Given the description of an element on the screen output the (x, y) to click on. 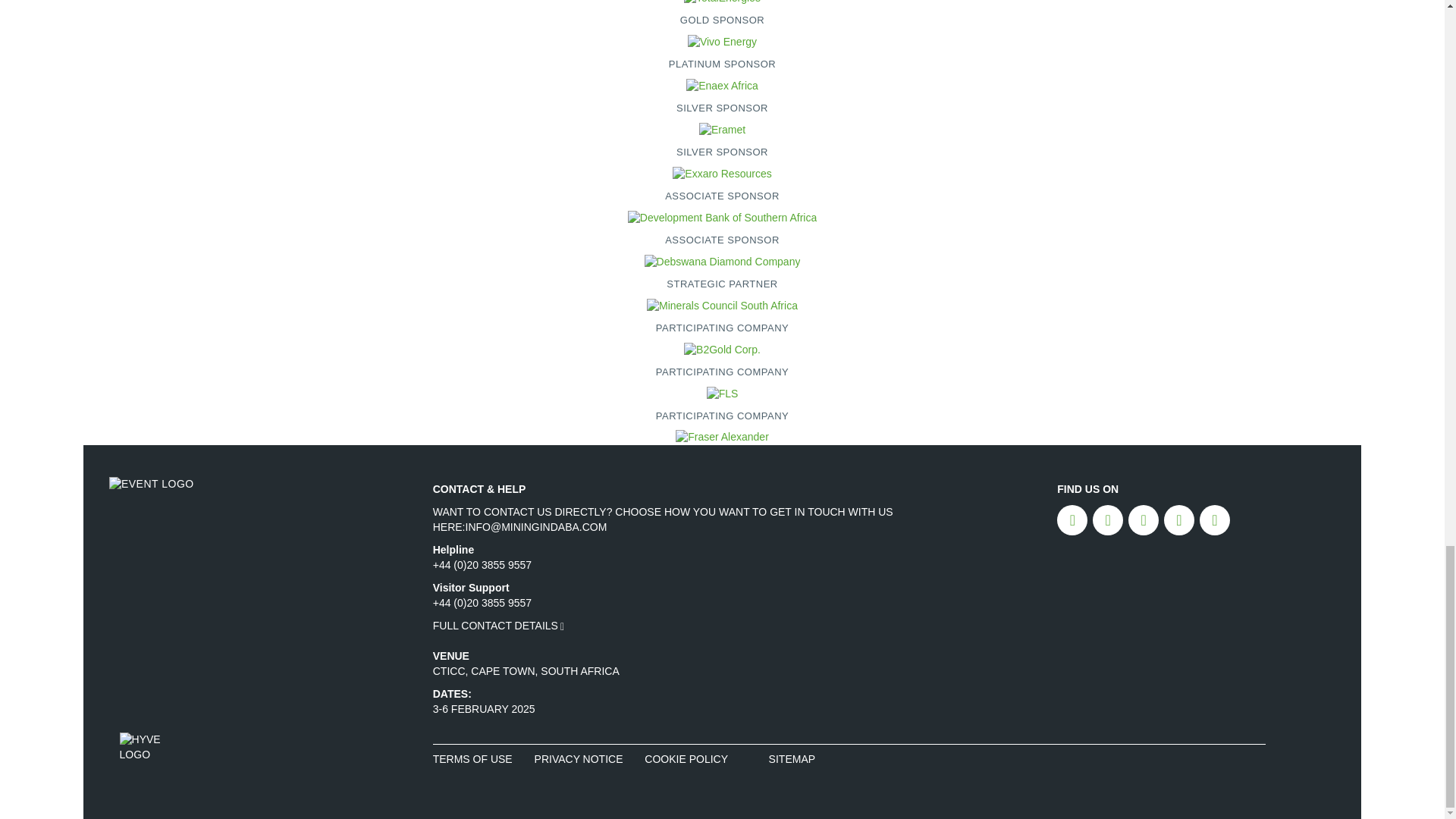
Exxaro Resources (721, 173)
Minerals Council South Africa (721, 305)
Development Bank of Southern Africa (721, 217)
TotalEnergies (722, 2)
FLS (722, 393)
Facebook link (1072, 520)
Vivo Energy (722, 42)
Eramet (721, 130)
Enaex Africa (721, 86)
Fraser Alexander (721, 437)
